Given the description of an element on the screen output the (x, y) to click on. 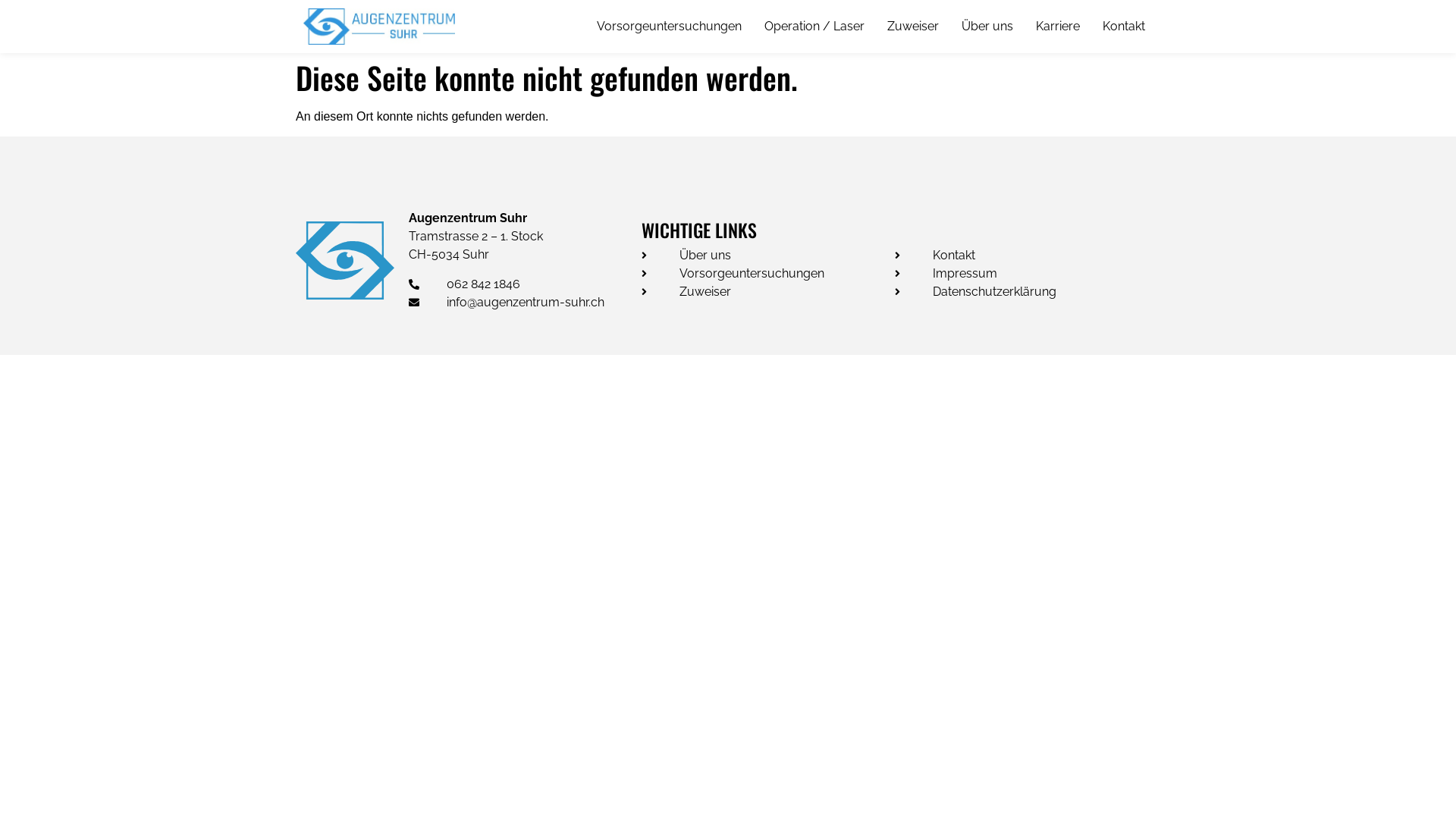
Zuweiser Element type: text (767, 291)
Vorsorgeuntersuchungen Element type: text (669, 26)
Zuweiser Element type: text (912, 26)
Vorsorgeuntersuchungen Element type: text (767, 273)
Karriere Element type: text (1057, 26)
Kontakt Element type: text (1123, 26)
Impressum Element type: text (1024, 273)
Kontakt Element type: text (1024, 255)
info@augenzentrum-suhr.ch Element type: text (524, 302)
Operation / Laser Element type: text (814, 26)
062 842 1846 Element type: text (524, 284)
